Given the description of an element on the screen output the (x, y) to click on. 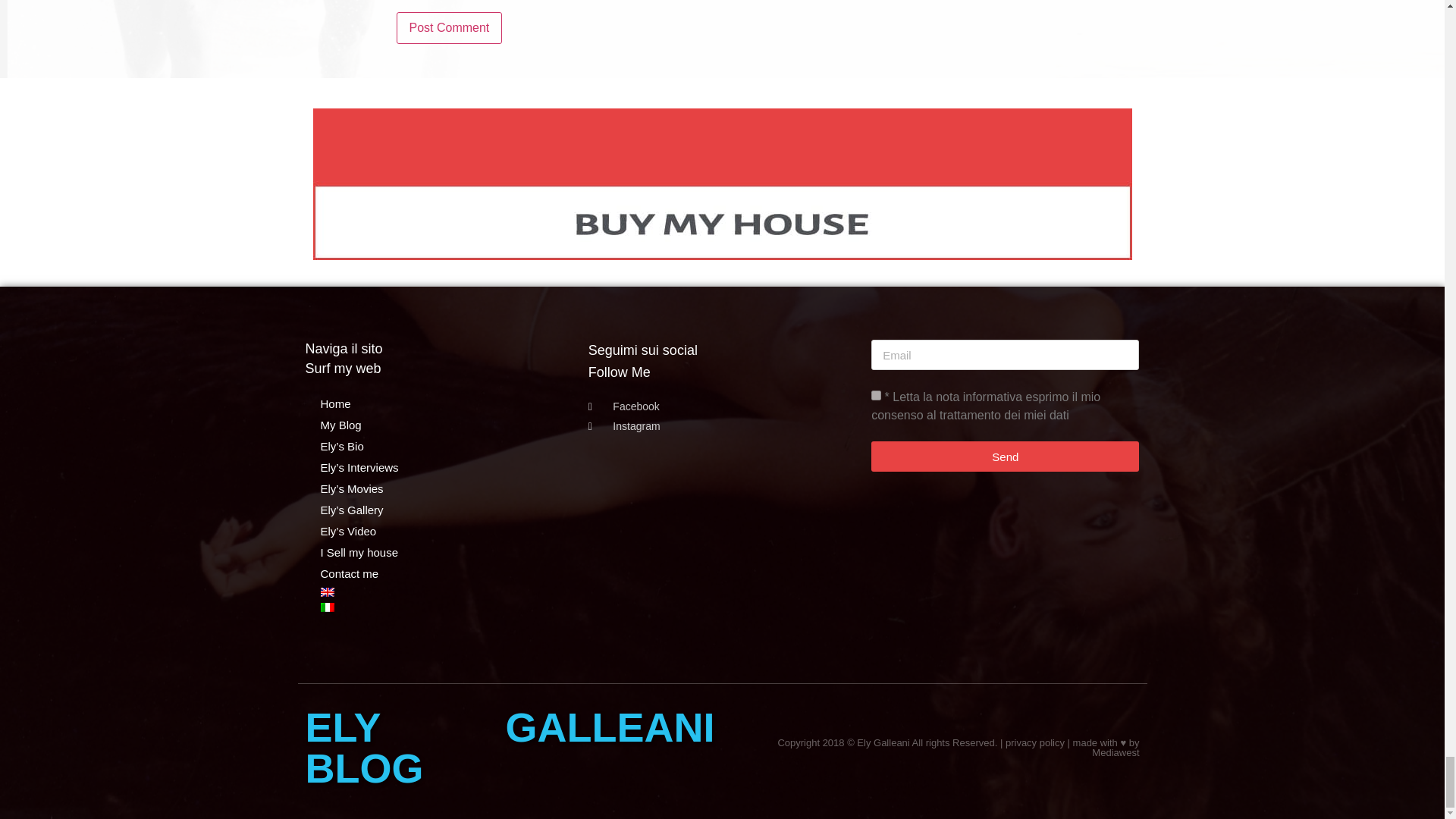
on (875, 395)
ITA (326, 606)
Post Comment (449, 28)
My Blog (438, 424)
Home (438, 403)
ENG (326, 592)
Post Comment (449, 28)
